Given the description of an element on the screen output the (x, y) to click on. 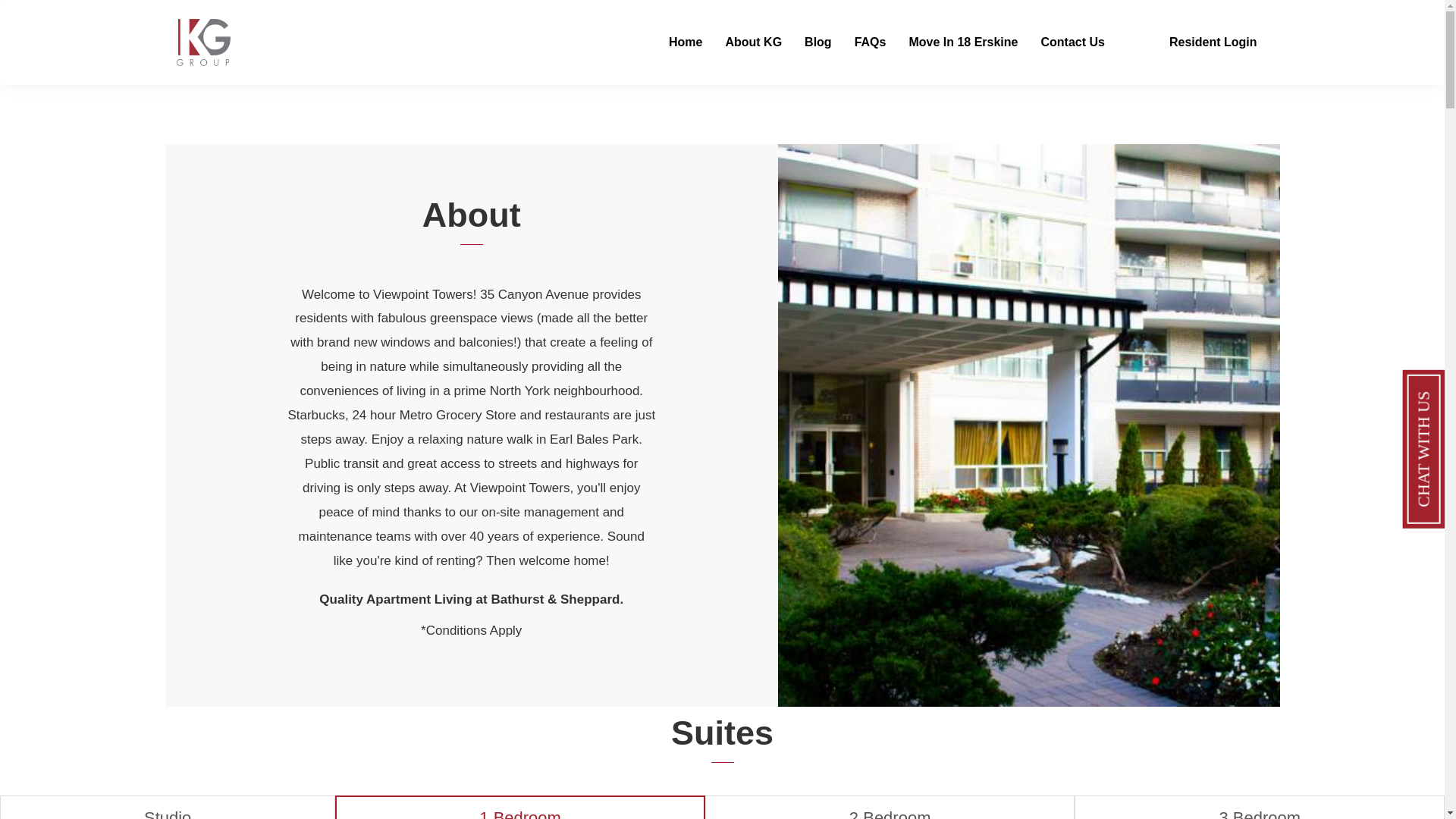
Contact Us (1072, 42)
Contact Us (1072, 42)
Contact Us (1192, 42)
KG Group Logo (33, 29)
About KG (753, 42)
Register 18 Erskine (962, 42)
Blog (818, 42)
Resident Login (1192, 42)
Home (685, 42)
FAQs (870, 42)
K Group Logo (203, 42)
Move In 18 Erskine (962, 42)
KG Group Canyon  Logo (117, 29)
